Given the description of an element on the screen output the (x, y) to click on. 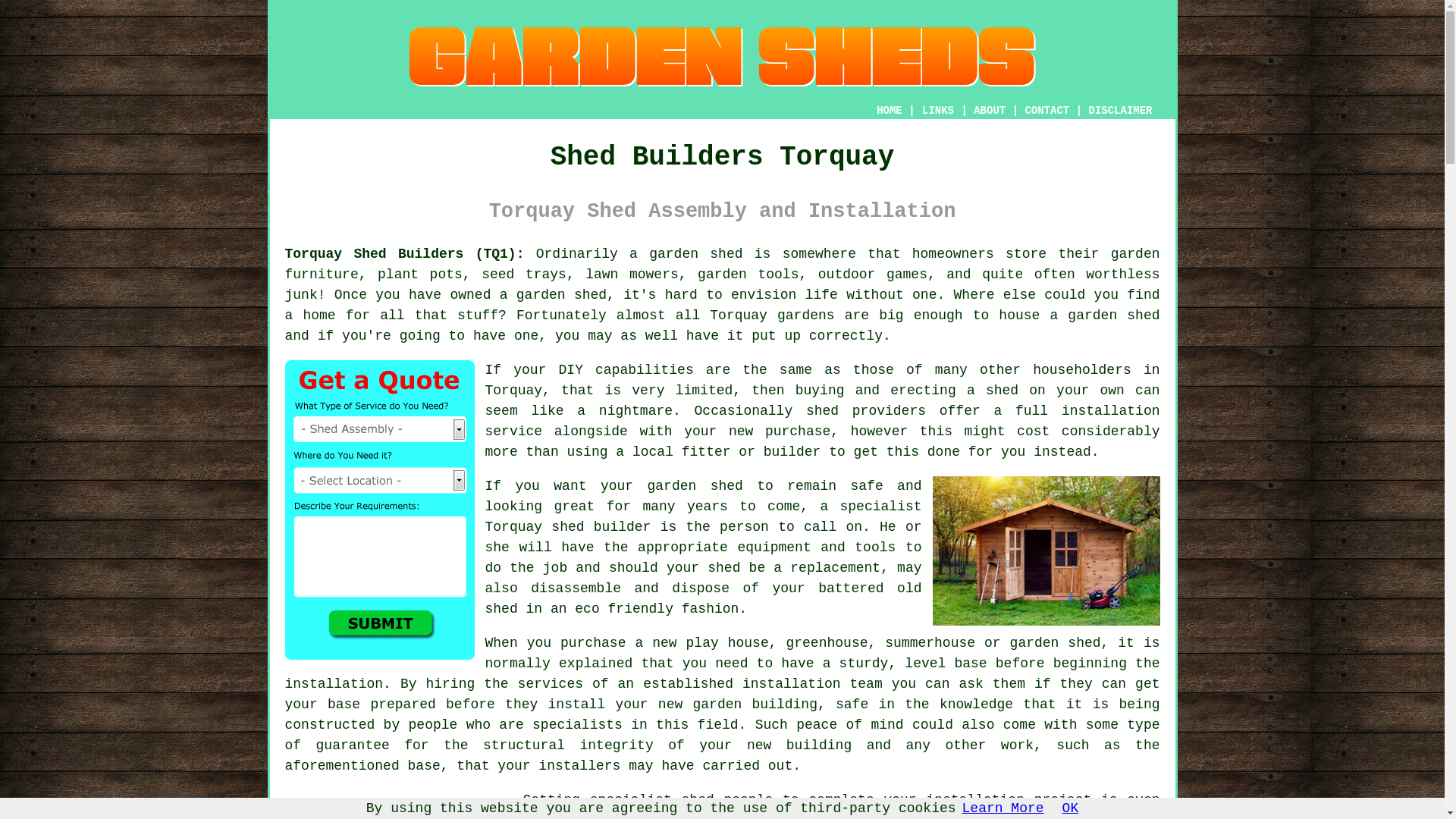
Shed Builders Torquay (1046, 550)
Shed Builders Torquay (722, 56)
HOME (889, 110)
LINKS (938, 110)
